Given the description of an element on the screen output the (x, y) to click on. 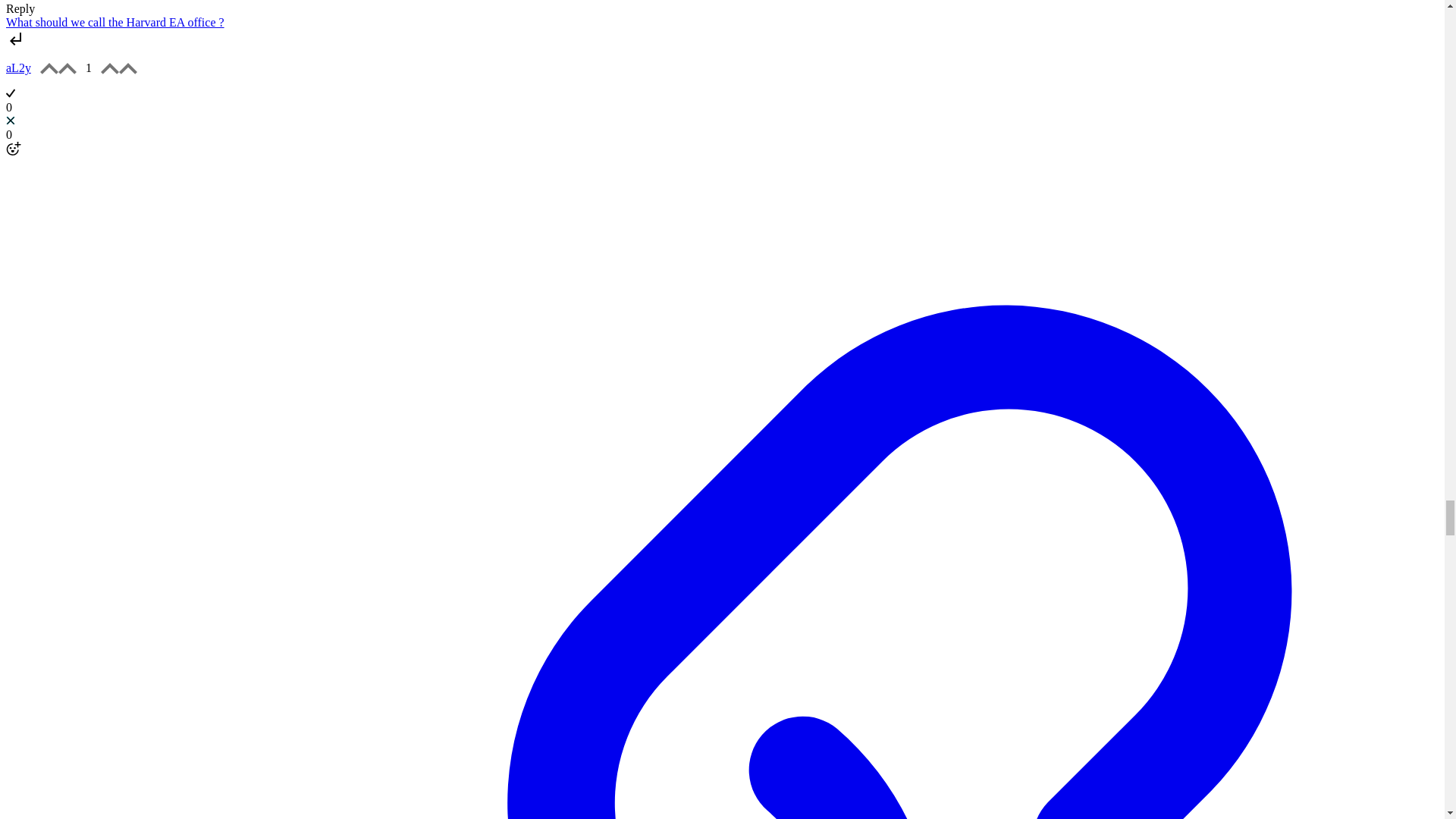
2y (24, 67)
Reply (19, 8)
What should we call the Harvard EA office ? (114, 21)
